Given the description of an element on the screen output the (x, y) to click on. 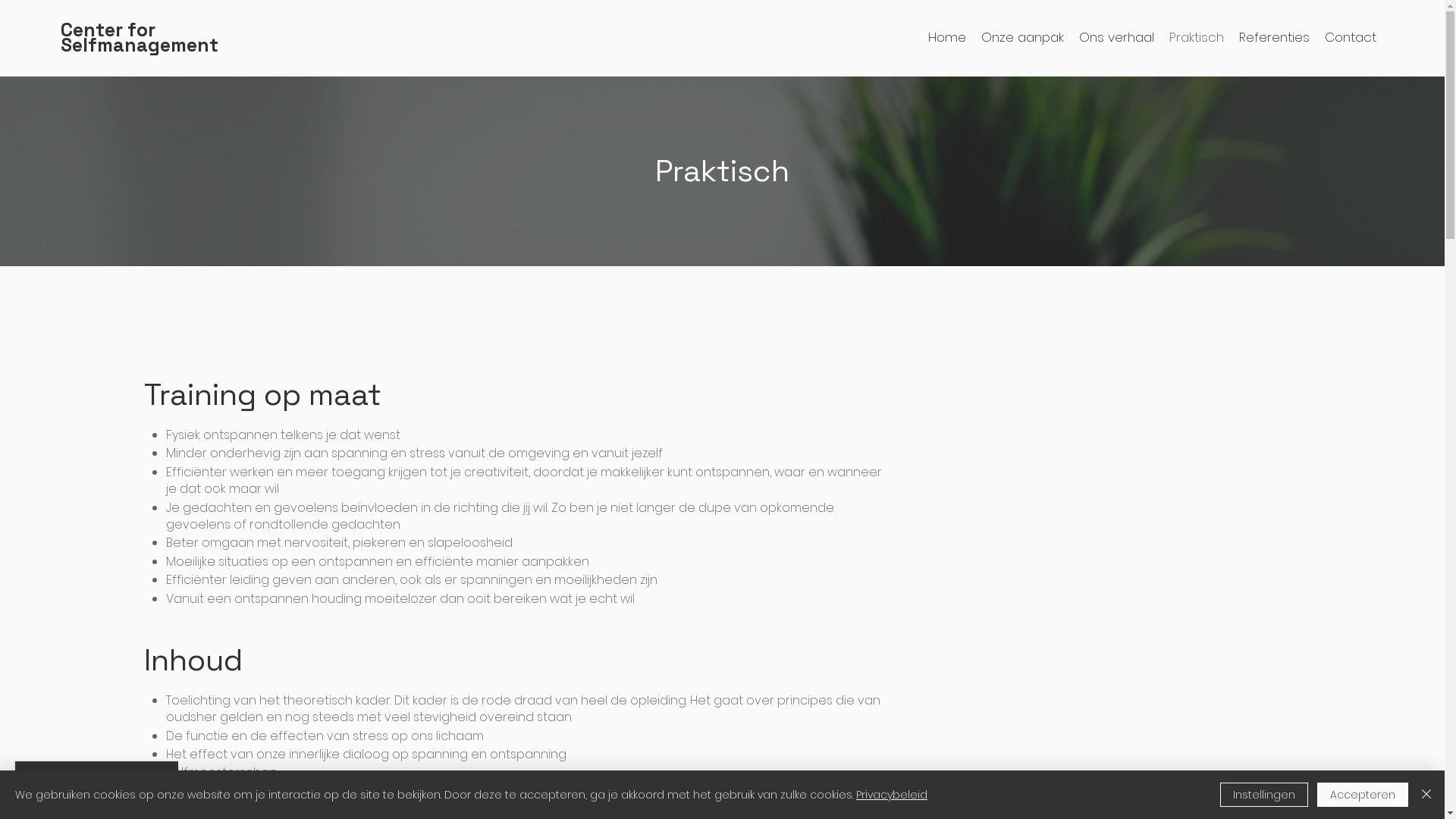
Privacybeleid Element type: text (891, 794)
Accepteren Element type: text (1362, 794)
Contact Element type: text (1350, 37)
Praktisch Element type: text (1196, 37)
Instellingen Element type: text (1264, 794)
Ons verhaal Element type: text (1116, 37)
Onze aanpak Element type: text (1022, 37)
Referenties Element type: text (1274, 37)
Home Element type: text (946, 37)
